Given the description of an element on the screen output the (x, y) to click on. 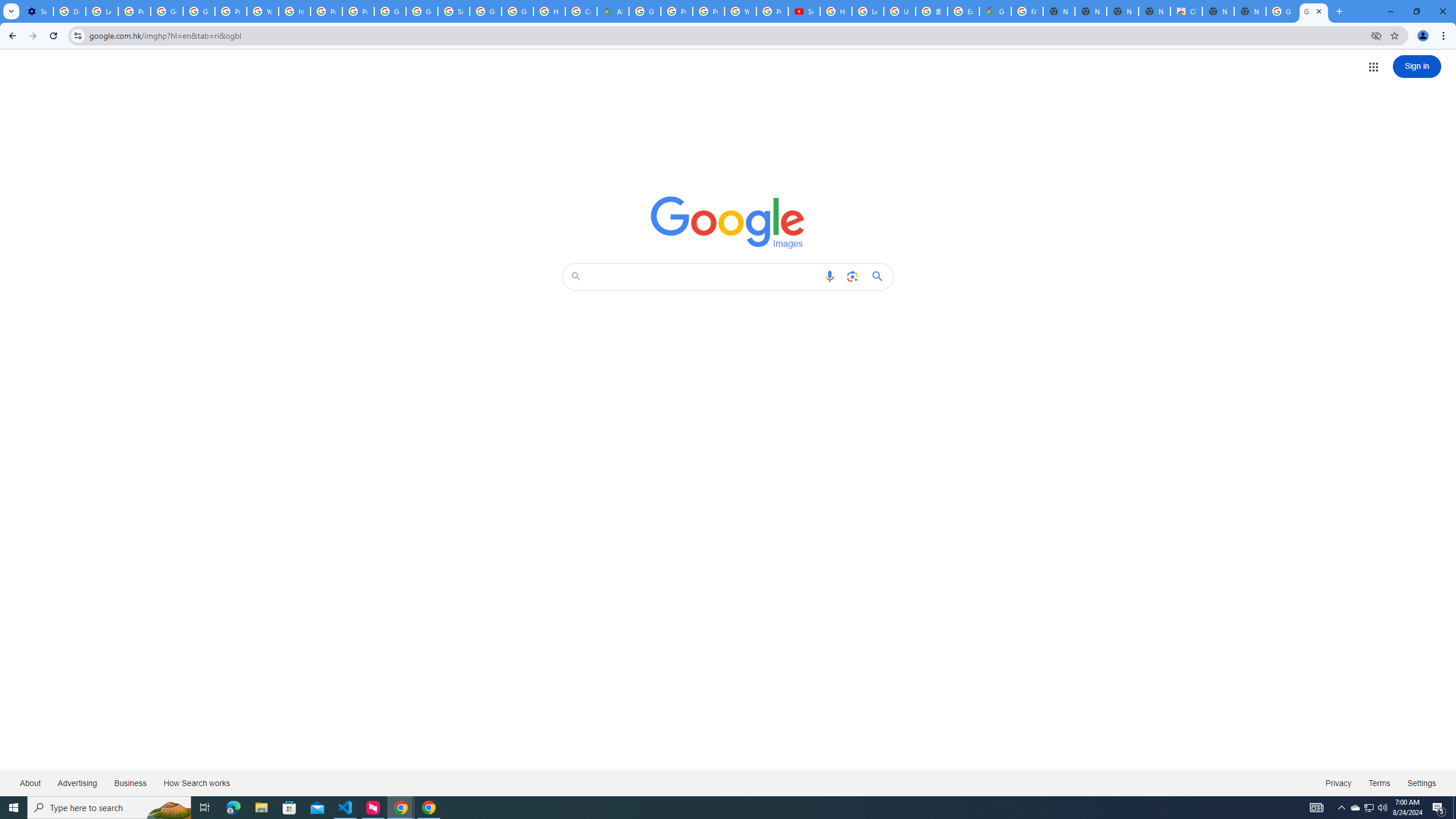
Create your Google Account (581, 11)
How Chrome protects your passwords - Google Chrome Help (836, 11)
Subscriptions - YouTube (804, 11)
Google Maps (995, 11)
